Given the description of an element on the screen output the (x, y) to click on. 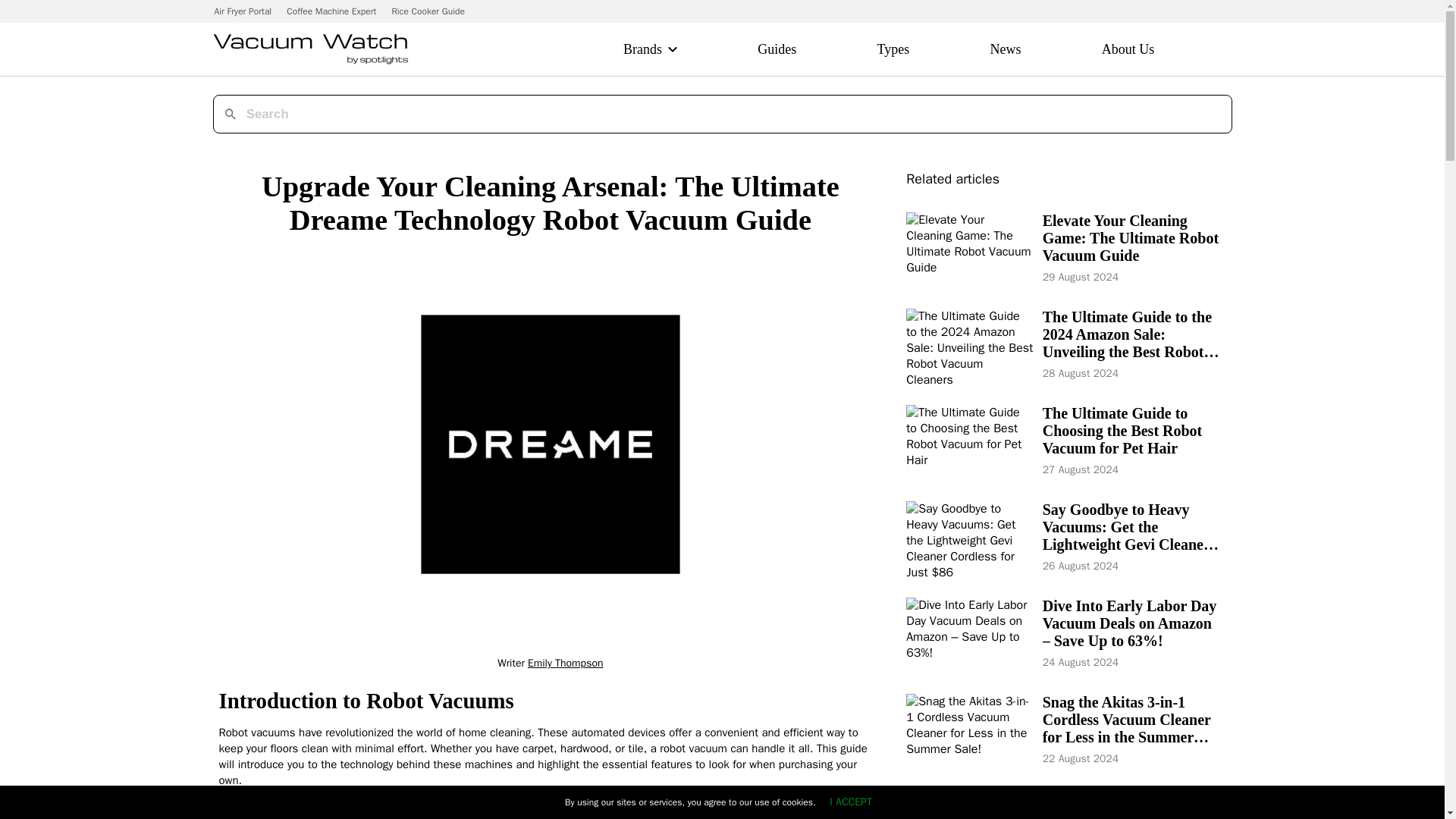
Coffee Machine Expert (331, 10)
About Us (1128, 48)
Emily Thompson (565, 662)
Brands (642, 48)
Rice Cooker Guide (427, 10)
Air Fryer Portal (242, 10)
Types (893, 48)
News (1006, 48)
Guides (776, 48)
